Given the description of an element on the screen output the (x, y) to click on. 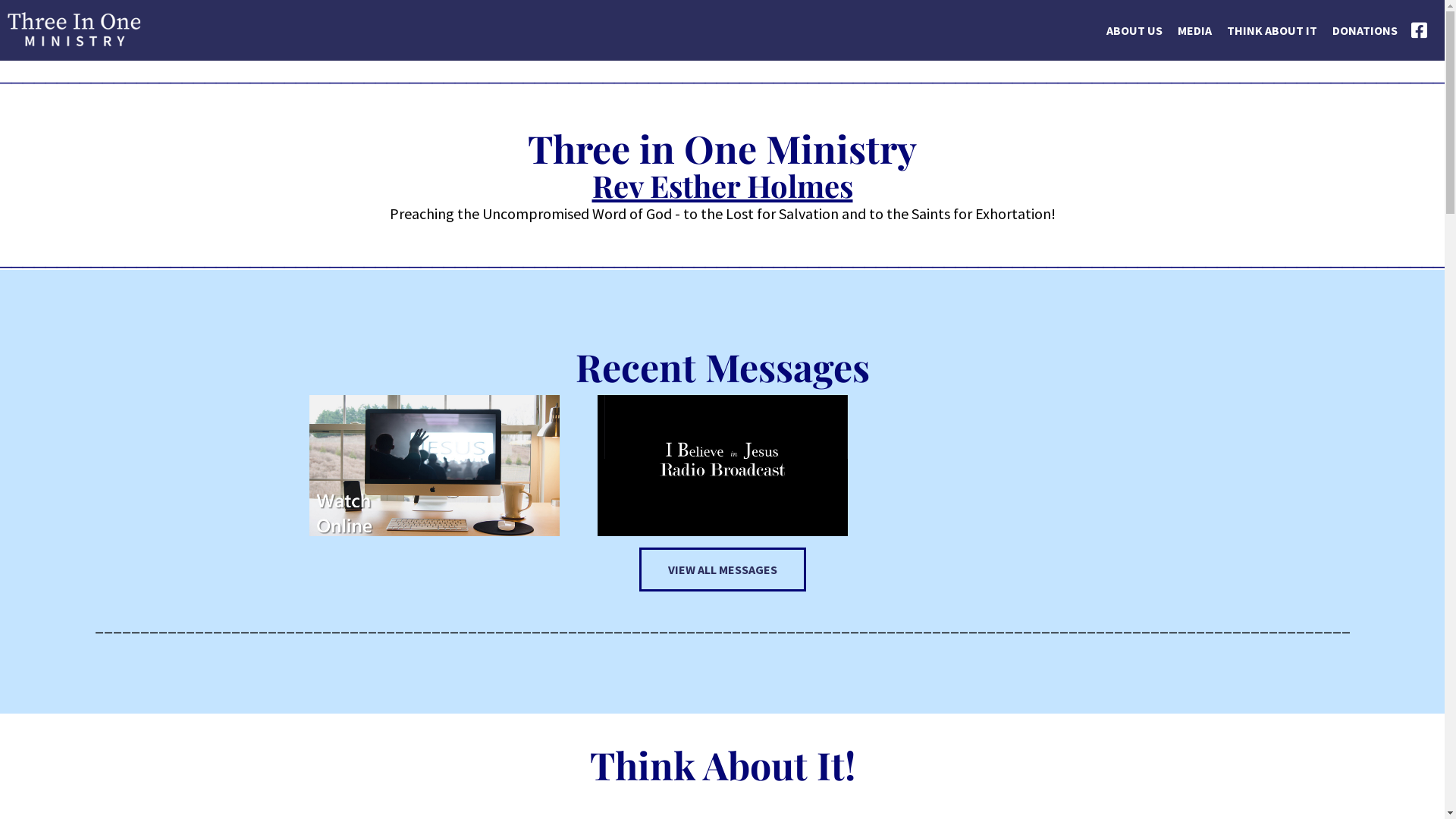
MEDIA Element type: text (1194, 46)
THINK ABOUT IT Element type: text (1271, 46)
VIEW ALL MESSAGES Element type: text (721, 569)
DONATIONS Element type: text (1364, 46)
ABOUT US Element type: text (1134, 46)
